Given the description of an element on the screen output the (x, y) to click on. 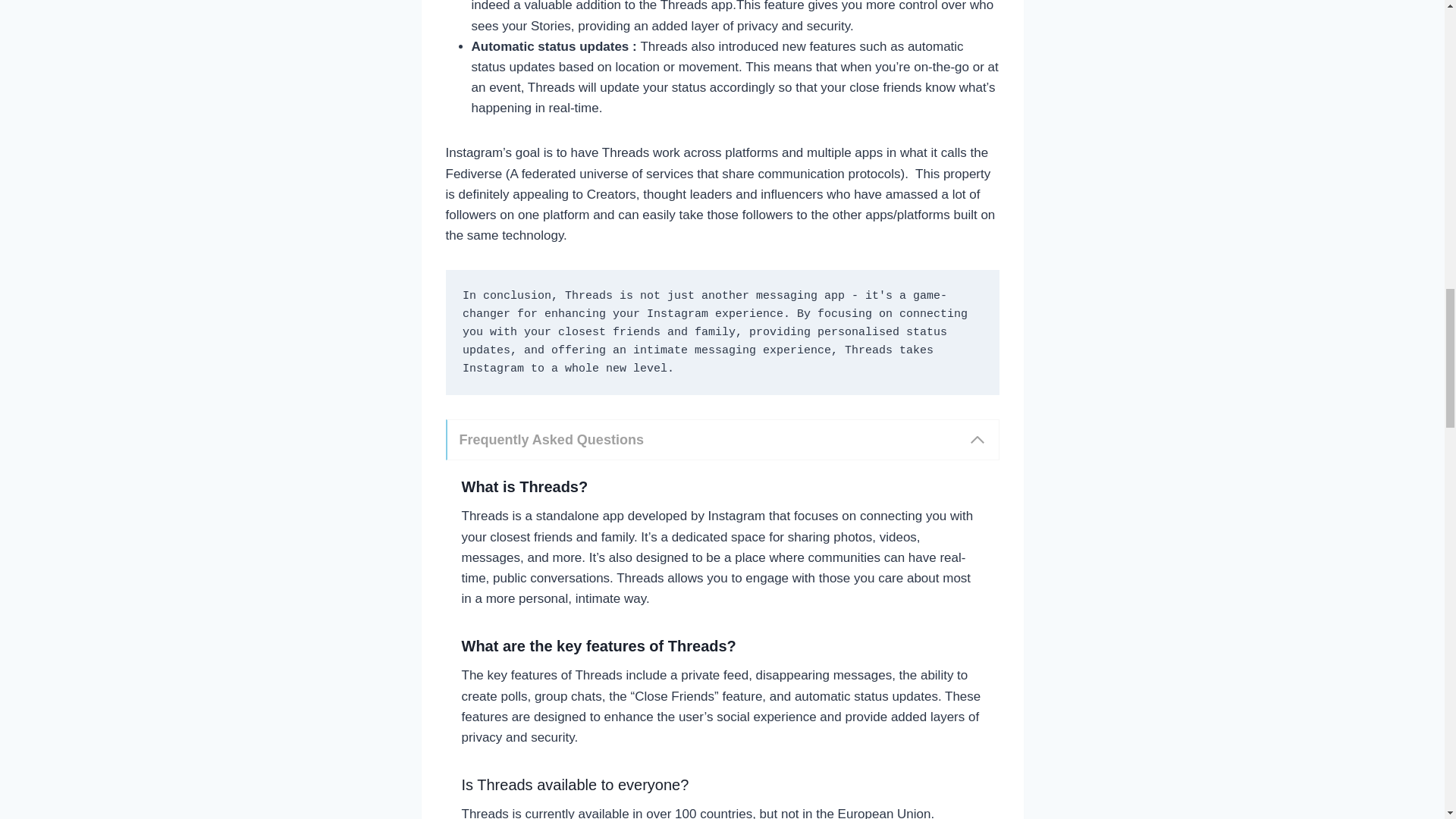
Frequently Asked Questions (721, 439)
